Given the description of an element on the screen output the (x, y) to click on. 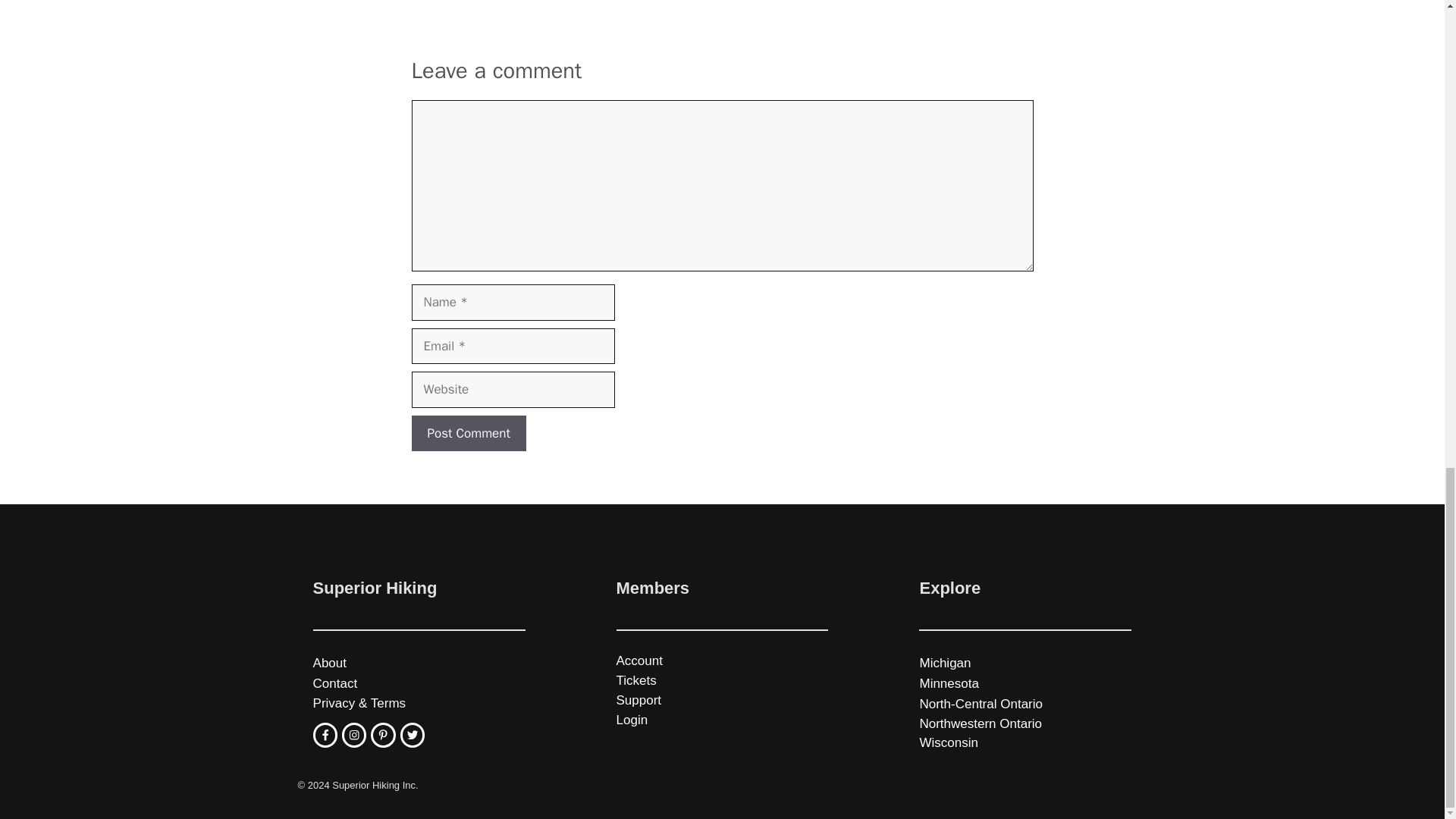
Login (631, 719)
Post Comment (467, 433)
North-Central Ontario (980, 703)
Northwestern Ontario (980, 723)
Support (638, 699)
Michigan (944, 663)
Tickets (635, 680)
Post Comment (467, 433)
Account (638, 660)
Minnesota (948, 683)
